Given the description of an element on the screen output the (x, y) to click on. 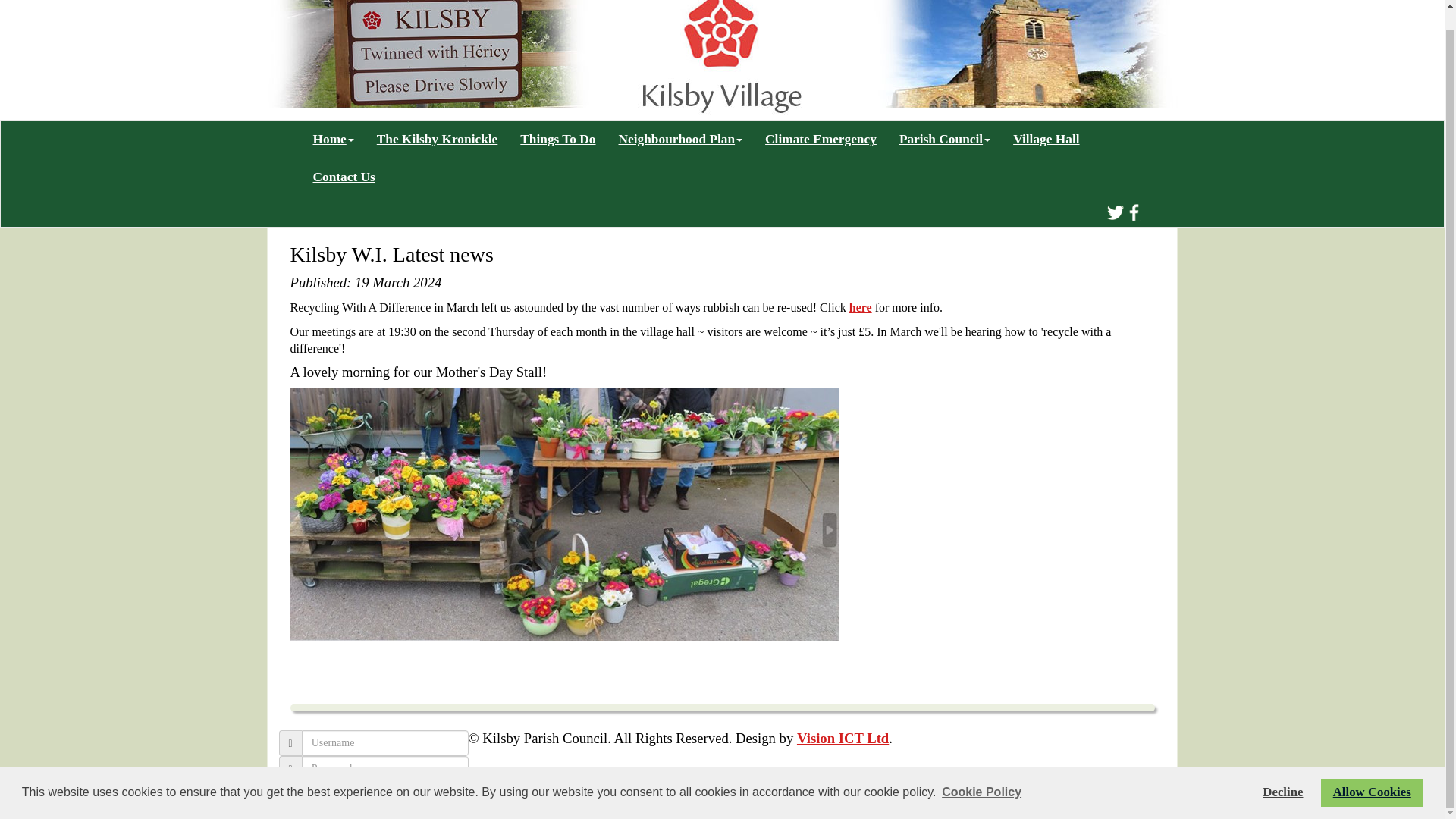
Contact Us (344, 177)
here (860, 307)
Decline (1282, 773)
The Kilsby Kronickle (437, 139)
User Name (384, 742)
Vision ICT (842, 738)
Home (333, 139)
Vision ICT Ltd (842, 738)
Password (384, 768)
Allow Cookies (1371, 773)
Neighbourhood Plan (680, 139)
Village Hall (1045, 139)
Climate Emergency (821, 139)
Parish Council (944, 139)
Things To Do (557, 139)
